Given the description of an element on the screen output the (x, y) to click on. 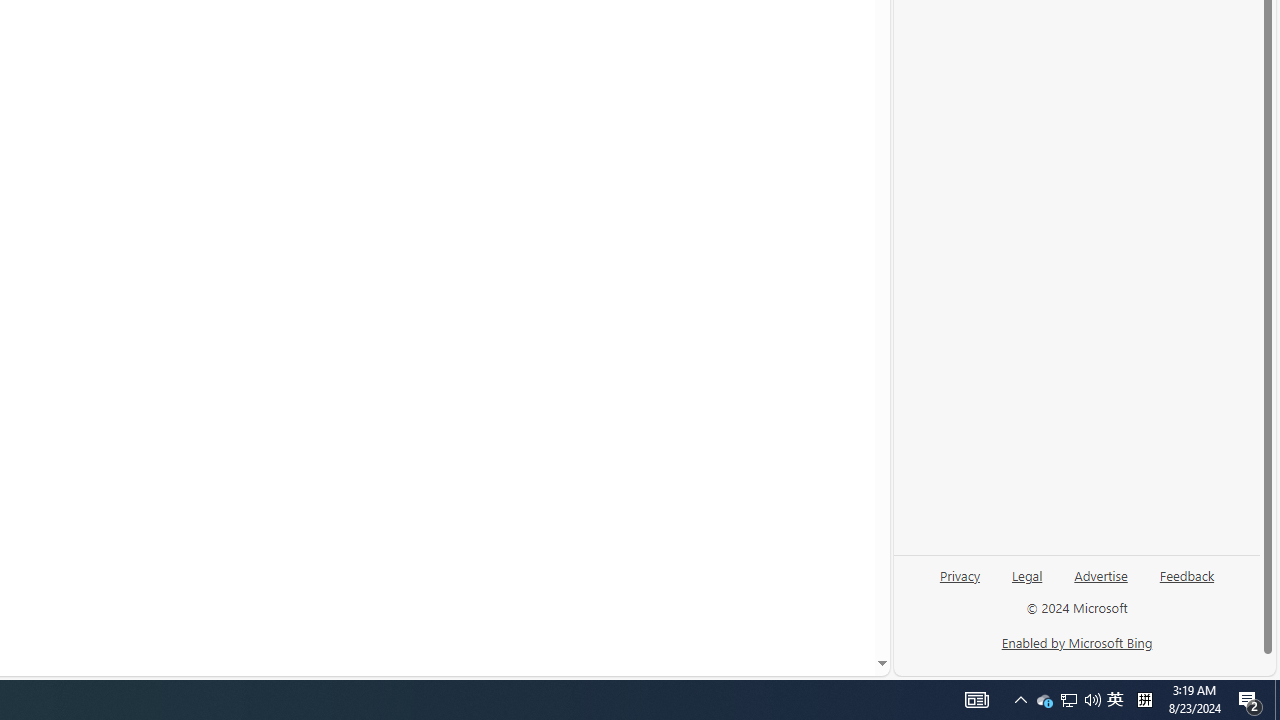
Legal (1027, 574)
Legal (1026, 583)
